Given the description of an element on the screen output the (x, y) to click on. 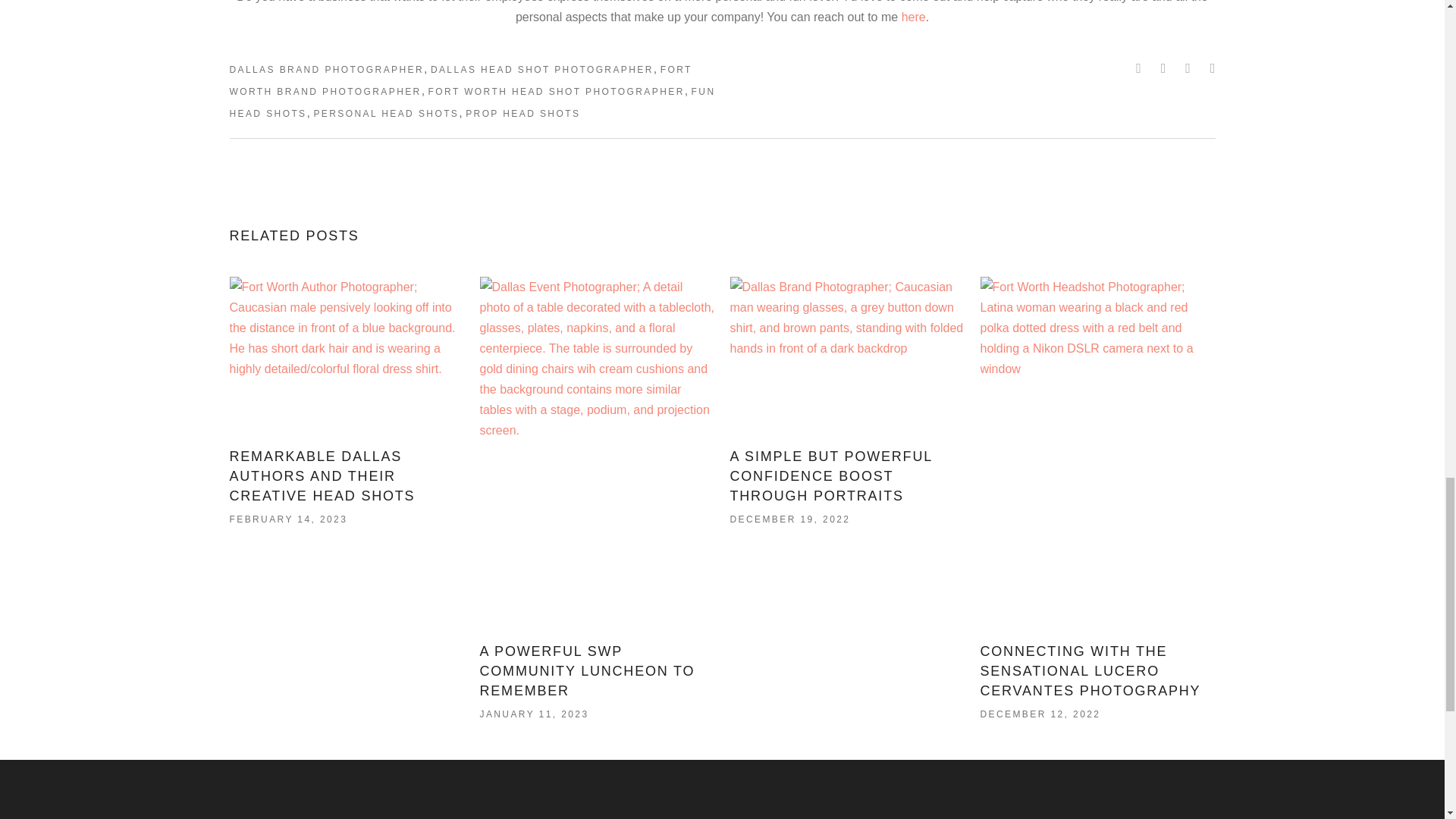
A Powerful SWP Community Luncheon to Remember (586, 670)
FORT WORTH BRAND PHOTOGRAPHER (459, 80)
PERSONAL HEAD SHOTS (385, 113)
DALLAS HEAD SHOT PHOTOGRAPHER (541, 69)
A Simple But Powerful Confidence Boost Through Portraits (830, 475)
DALLAS BRAND PHOTOGRAPHER (325, 69)
Remarkable Dallas Authors and Their Creative Head Shots (346, 355)
FORT WORTH HEAD SHOT PHOTOGRAPHER (556, 91)
FUN HEAD SHOTS (471, 102)
here (913, 16)
